Given the description of an element on the screen output the (x, y) to click on. 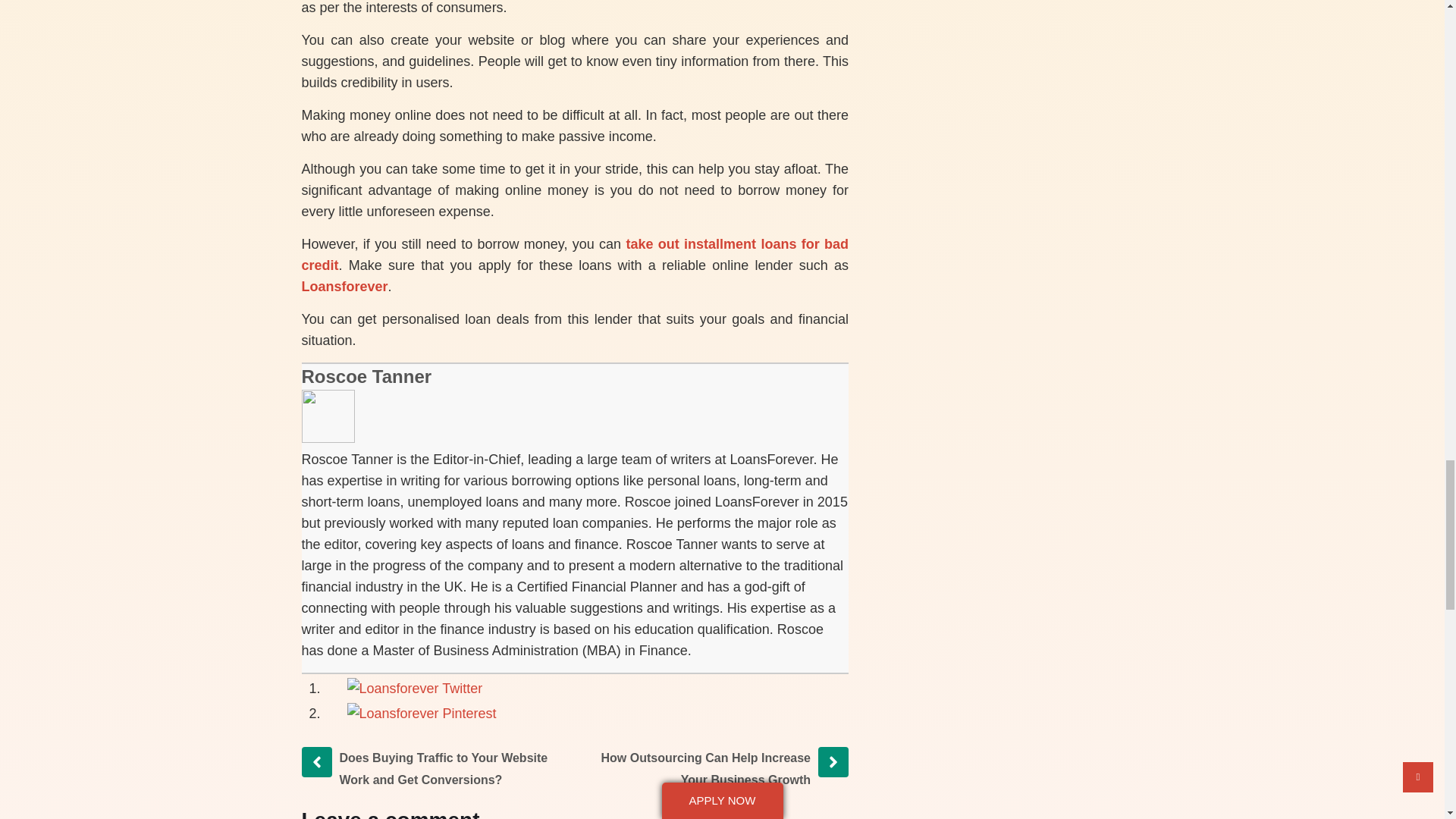
take out installment loans for bad credit (574, 254)
Loansforever (344, 286)
All posts by Roscoe Tanner (366, 376)
How Outsourcing Can Help Increase Your Business Growth (704, 768)
Roscoe Tanner (366, 376)
